Given the description of an element on the screen output the (x, y) to click on. 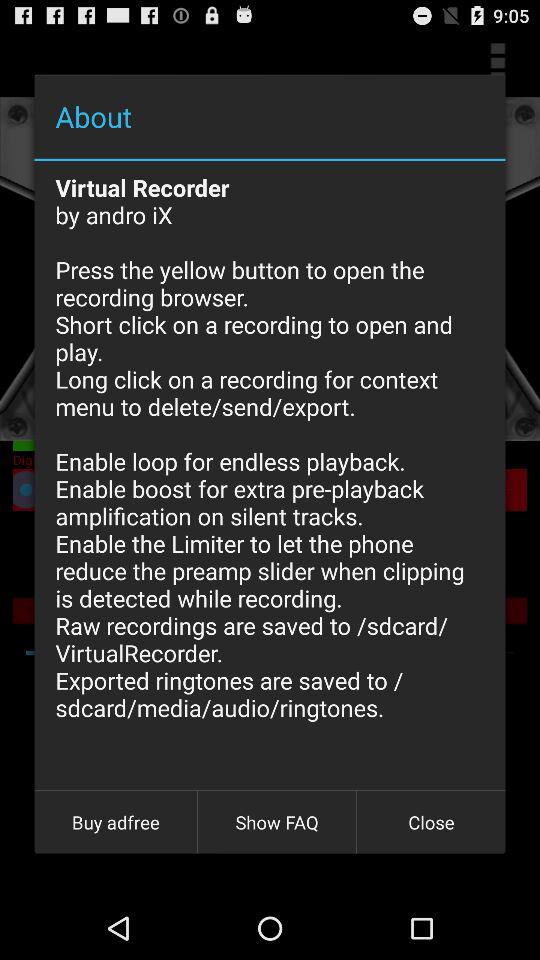
launch the buy adfree (115, 821)
